Given the description of an element on the screen output the (x, y) to click on. 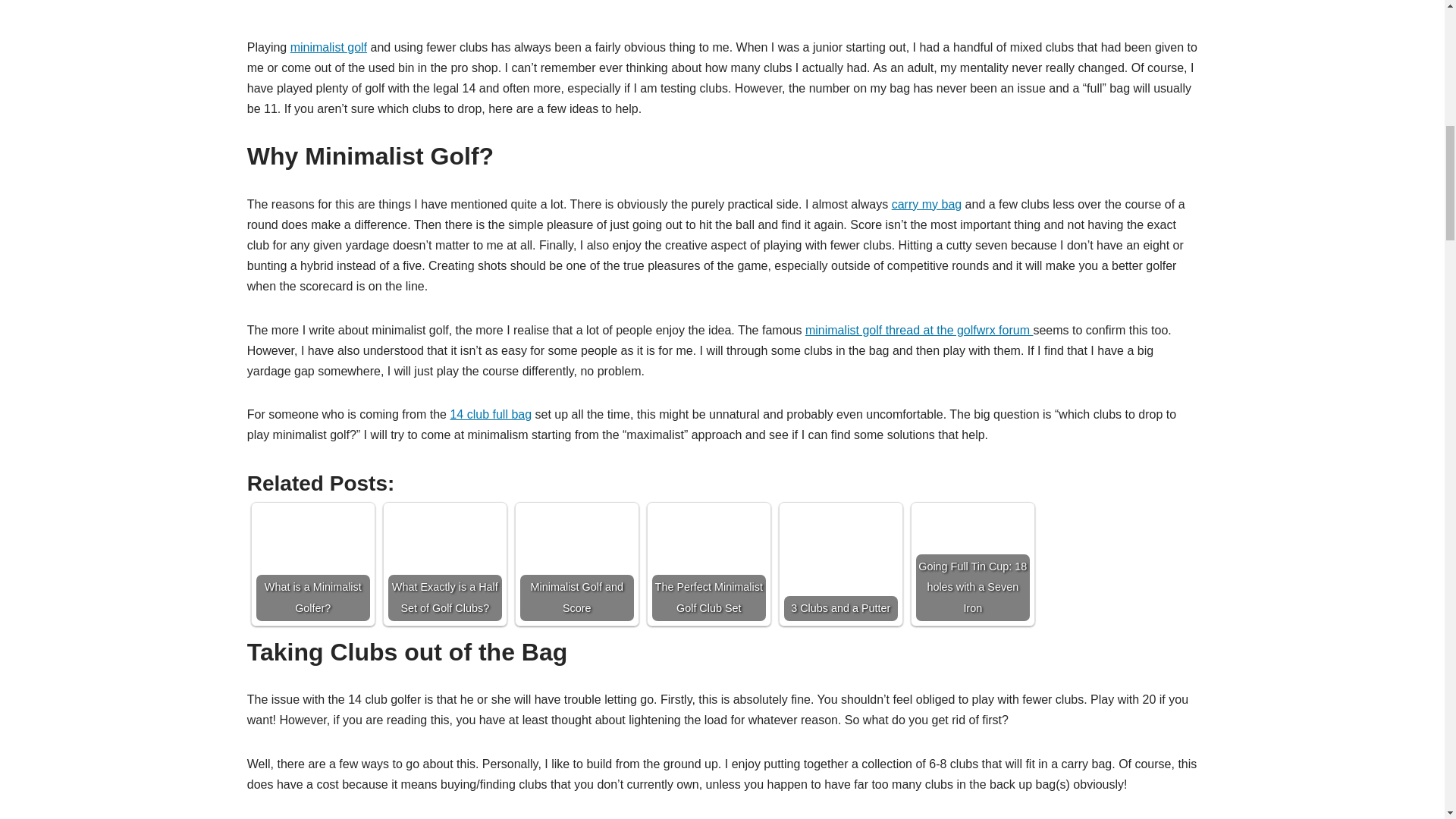
3 Clubs and a Putter (841, 563)
minimalist golf (327, 47)
Going Full Tin Cup: 18 holes with a Seven Iron (972, 563)
Minimalist Golf and Score (576, 563)
What is a Minimalist Golfer? (312, 560)
Minimalist Golf and Score (576, 563)
The Perfect Minimalist Golf Club Set (708, 563)
14 club full bag (490, 413)
Going Full Tin Cup: 18 holes with a Seven Iron (972, 563)
What is a Minimalist Golfer? (312, 563)
The Perfect Minimalist Golf Club Set (708, 560)
What Exactly is a Half Set of Golf Clubs? (445, 563)
carry my bag (925, 204)
minimalist golf thread at the golfwrx forum (919, 329)
3 Clubs and a Putter (841, 563)
